Given the description of an element on the screen output the (x, y) to click on. 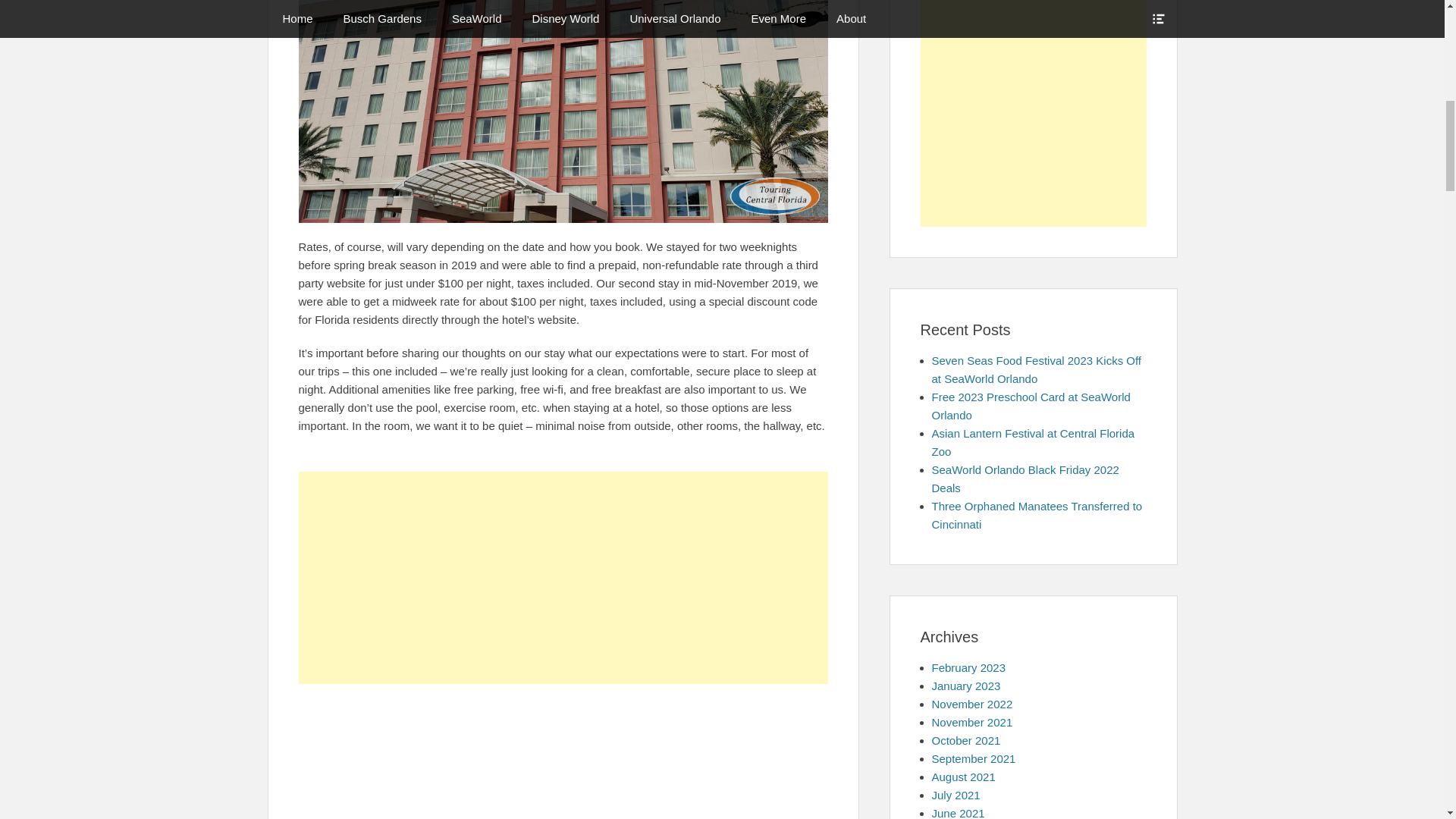
Advertisement (563, 759)
